Given the description of an element on the screen output the (x, y) to click on. 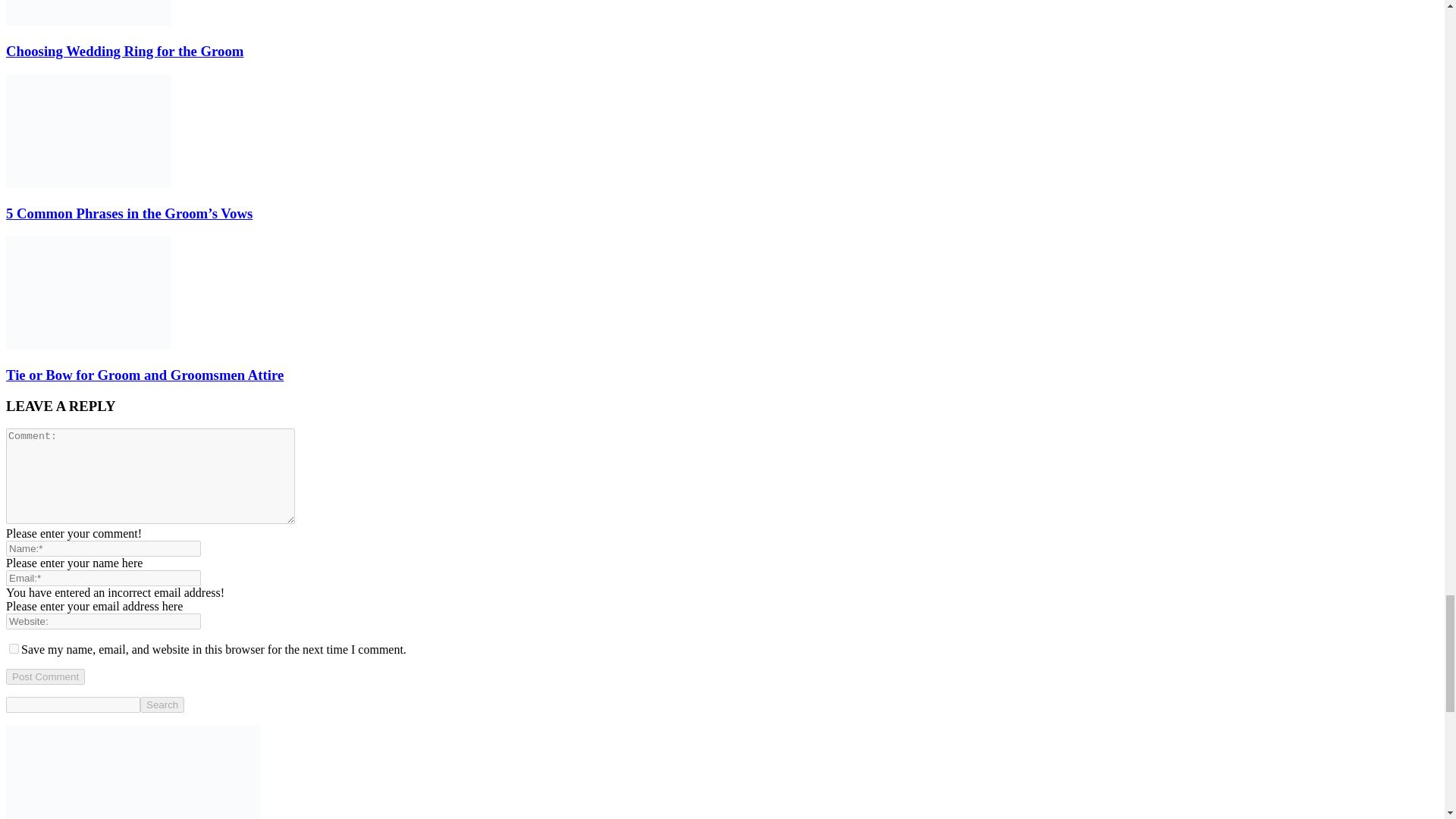
Search (161, 704)
Choosing Wedding Ring for the Groom (88, 12)
yes (13, 648)
Choosing Wedding Ring for the Groom (124, 50)
Tie or Bow for Groom and Groomsmen Attire (88, 345)
Tie or Bow for Groom and Groomsmen Attire (88, 292)
Post Comment (44, 676)
Tie or Bow for Groom and Groomsmen Attire (144, 374)
Choosing Wedding Ring for the Groom (88, 21)
